Given the description of an element on the screen output the (x, y) to click on. 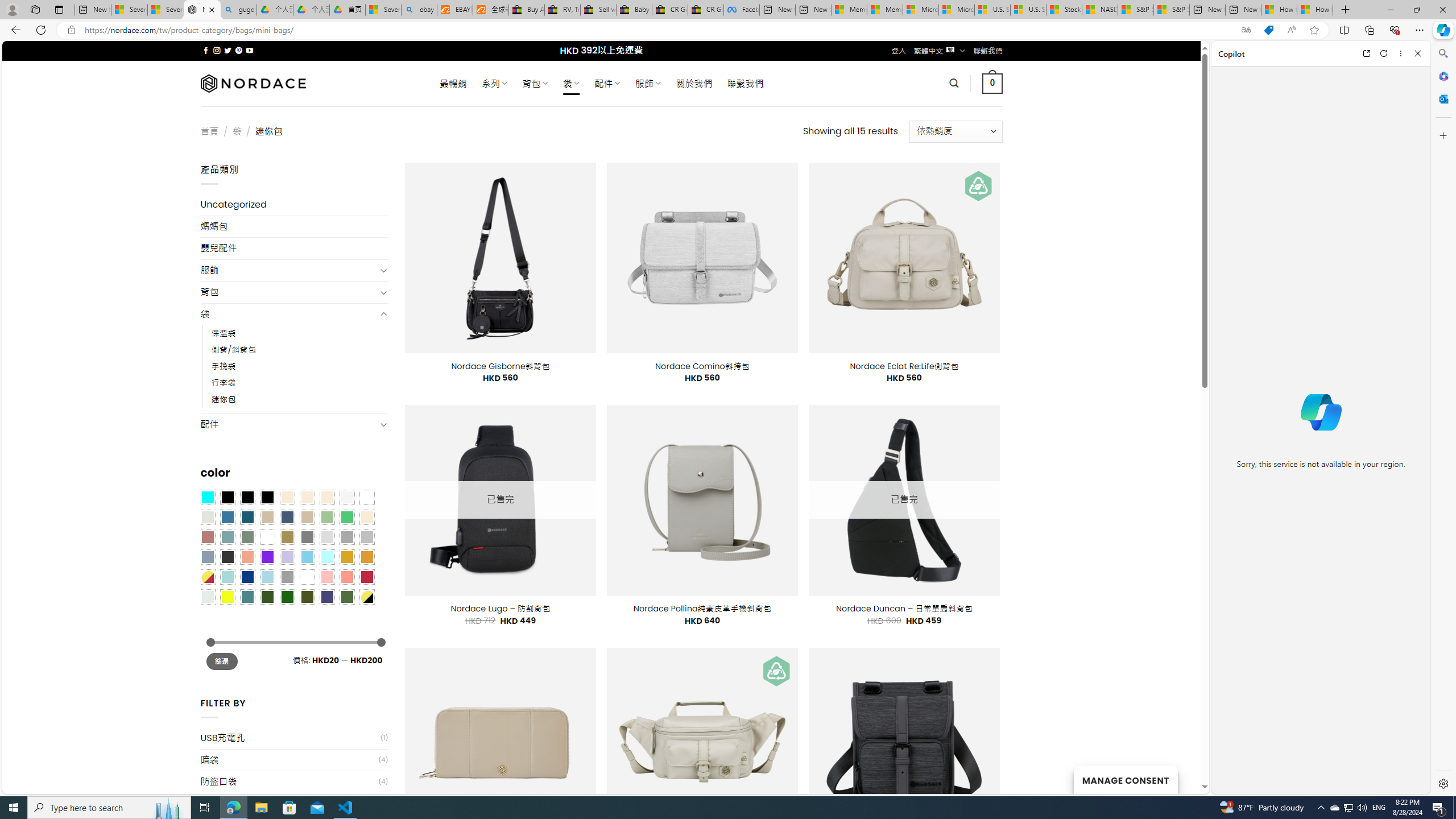
Open link in new tab (1366, 53)
Copilot (Ctrl+Shift+.) (1442, 29)
Settings and more (Alt+F) (1419, 29)
This site has coupons! Shopping in Microsoft Edge (1268, 29)
